Given the description of an element on the screen output the (x, y) to click on. 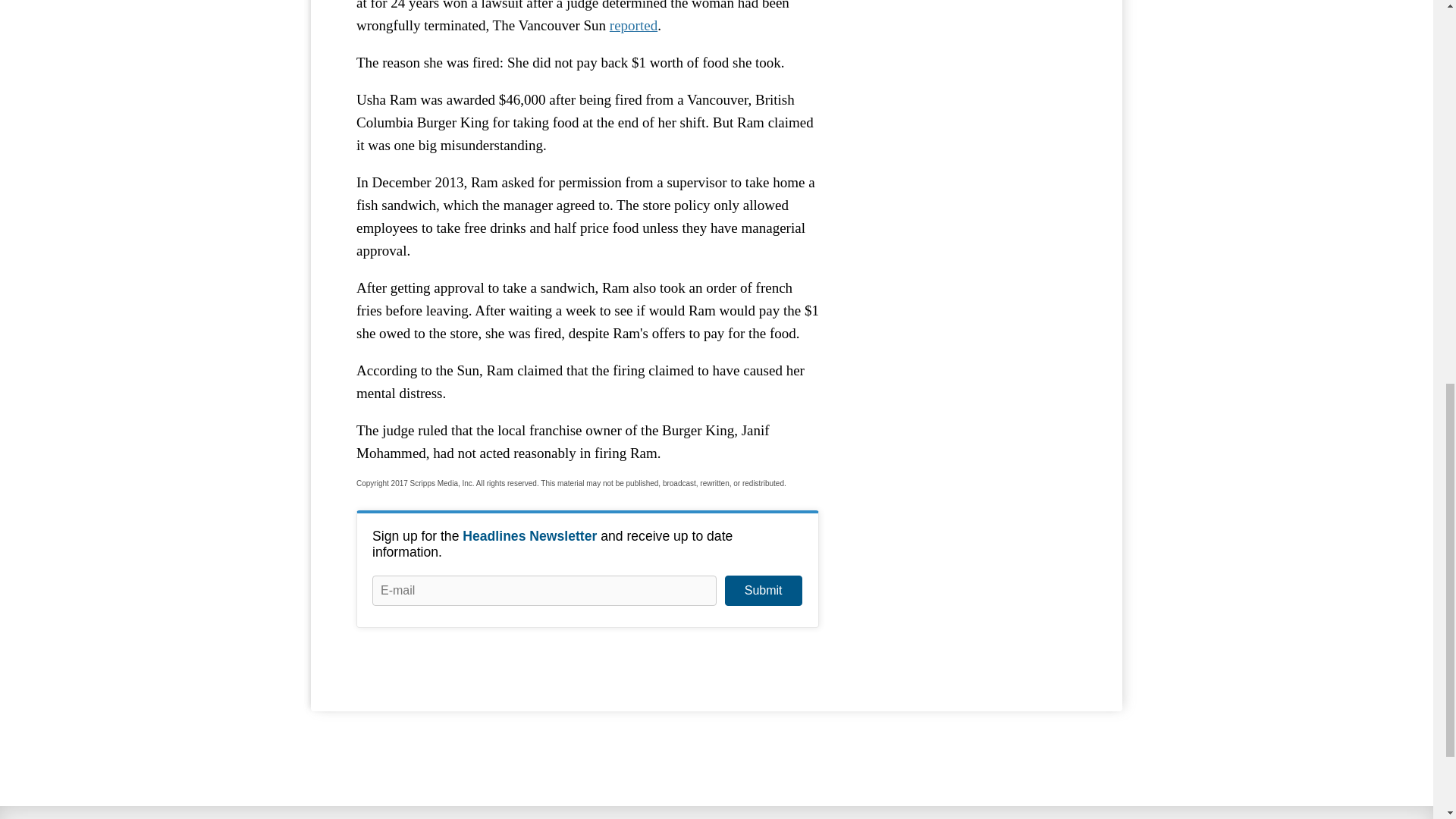
Submit (763, 590)
